Given the description of an element on the screen output the (x, y) to click on. 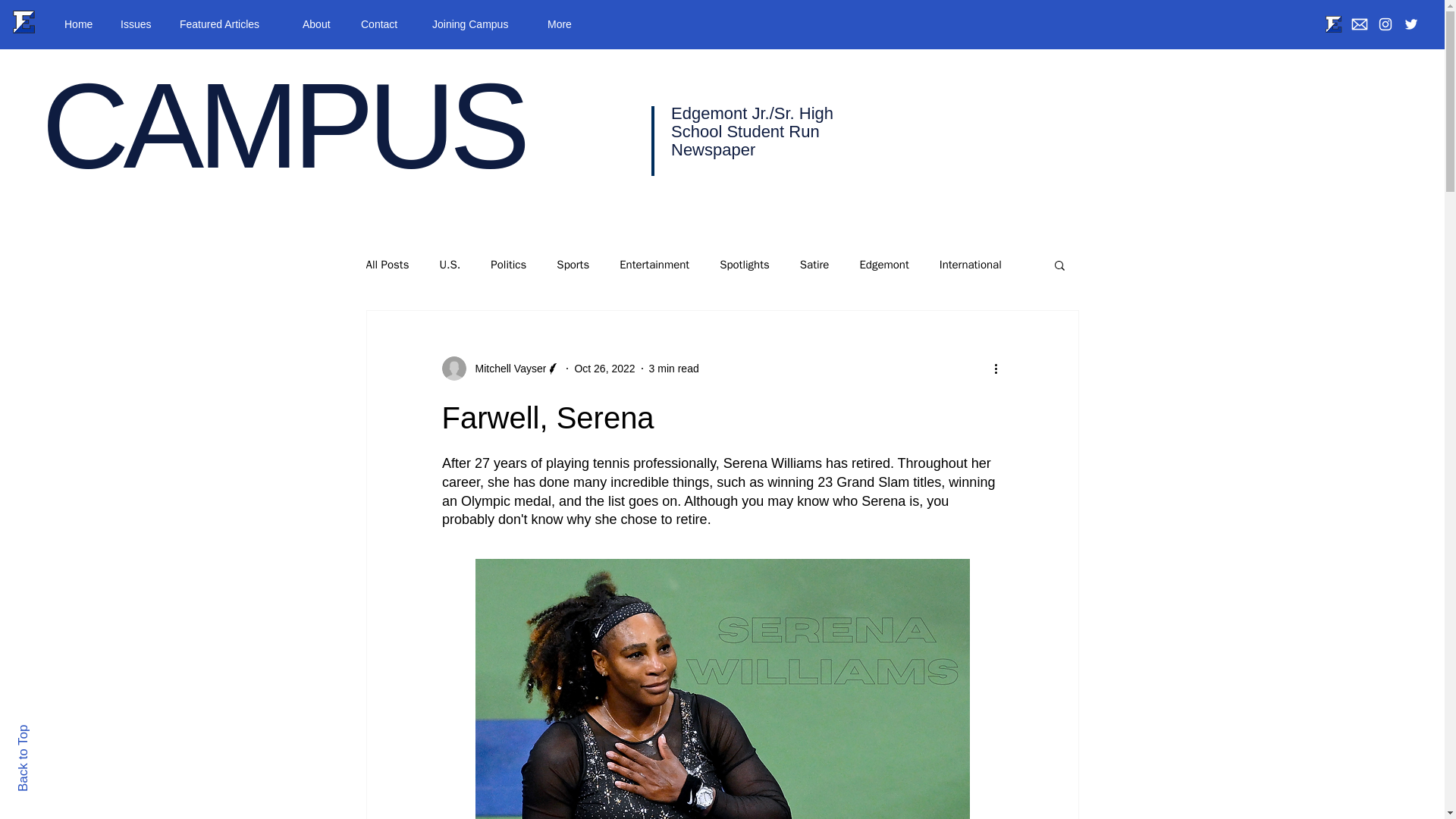
Oct 26, 2022 (603, 368)
U.S. (449, 264)
Joining Campus (477, 24)
Spotlights (744, 264)
Edgemont (883, 264)
3 min read (673, 368)
International (970, 264)
Entertainment (654, 264)
Sports (572, 264)
Featured Articles (229, 24)
